Given the description of an element on the screen output the (x, y) to click on. 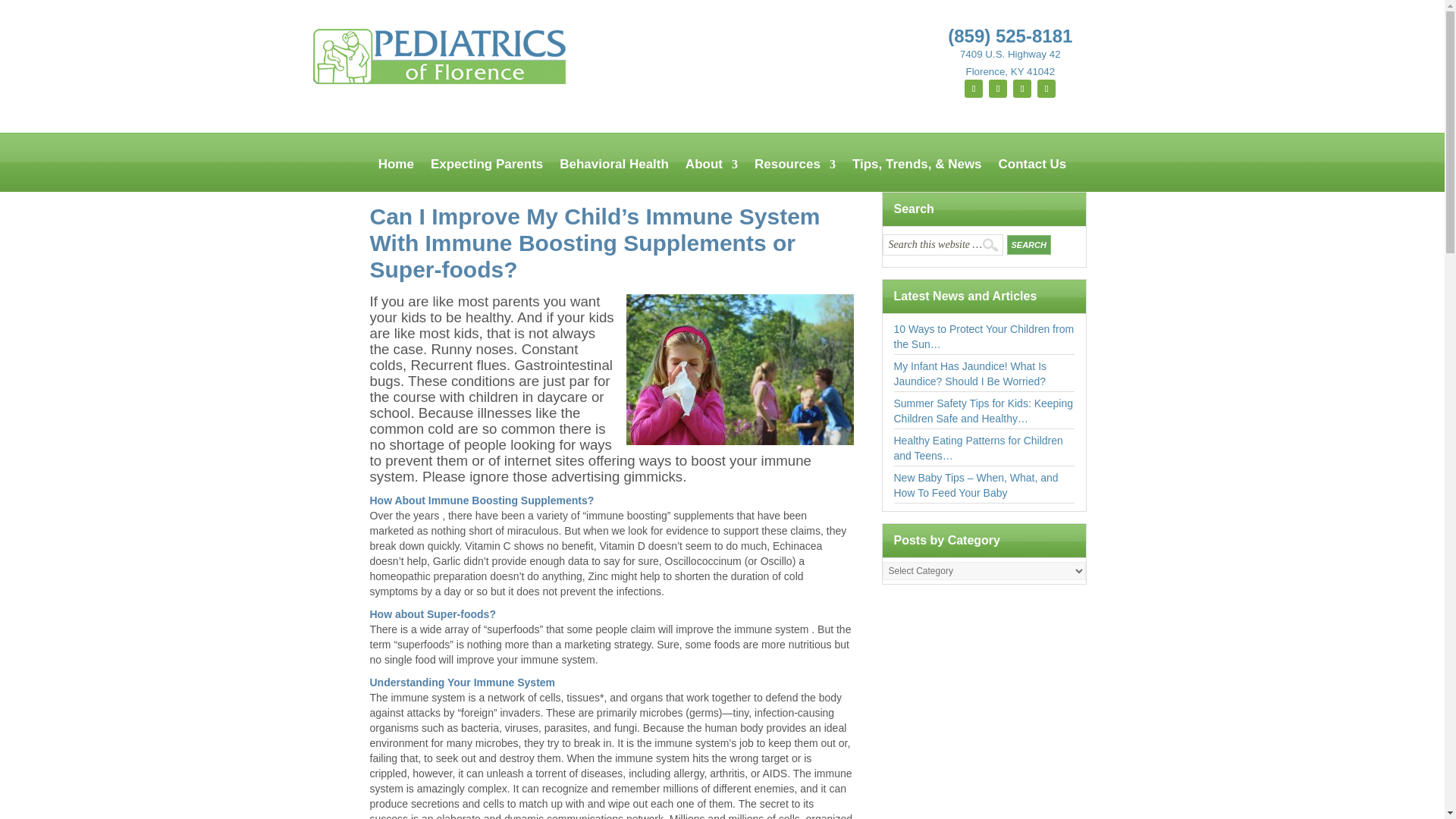
About (711, 175)
Follow on X (1045, 88)
Expecting Parents (486, 175)
Home (395, 175)
Search (1029, 244)
Follow on Facebook (972, 88)
Contact Us (1032, 175)
Follow on LinkedIn (1021, 88)
Search (1029, 244)
Follow on Instagram (997, 88)
Behavioral Health (613, 175)
Resources (794, 175)
